Given the description of an element on the screen output the (x, y) to click on. 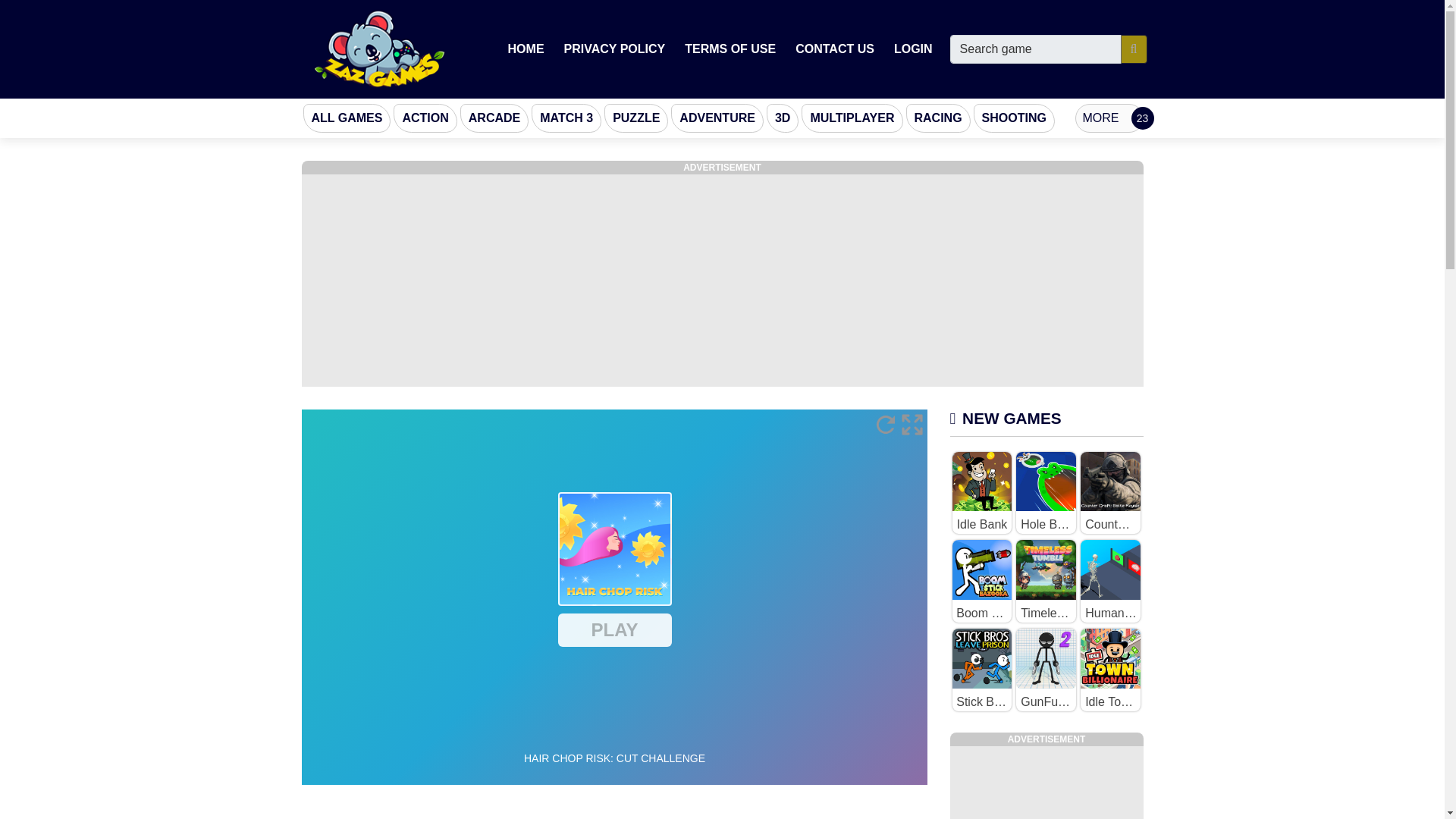
PRIVACY POLICY (614, 49)
Advertisement (1045, 782)
MORE (1108, 118)
ACTION (424, 118)
ADVENTURE (717, 118)
ALL GAMES (347, 118)
MATCH 3 (565, 118)
HOME (526, 49)
TERMS OF USE (729, 49)
LOGIN (913, 49)
3D (782, 118)
SHOOTING (1014, 118)
RACING (937, 118)
